Given the description of an element on the screen output the (x, y) to click on. 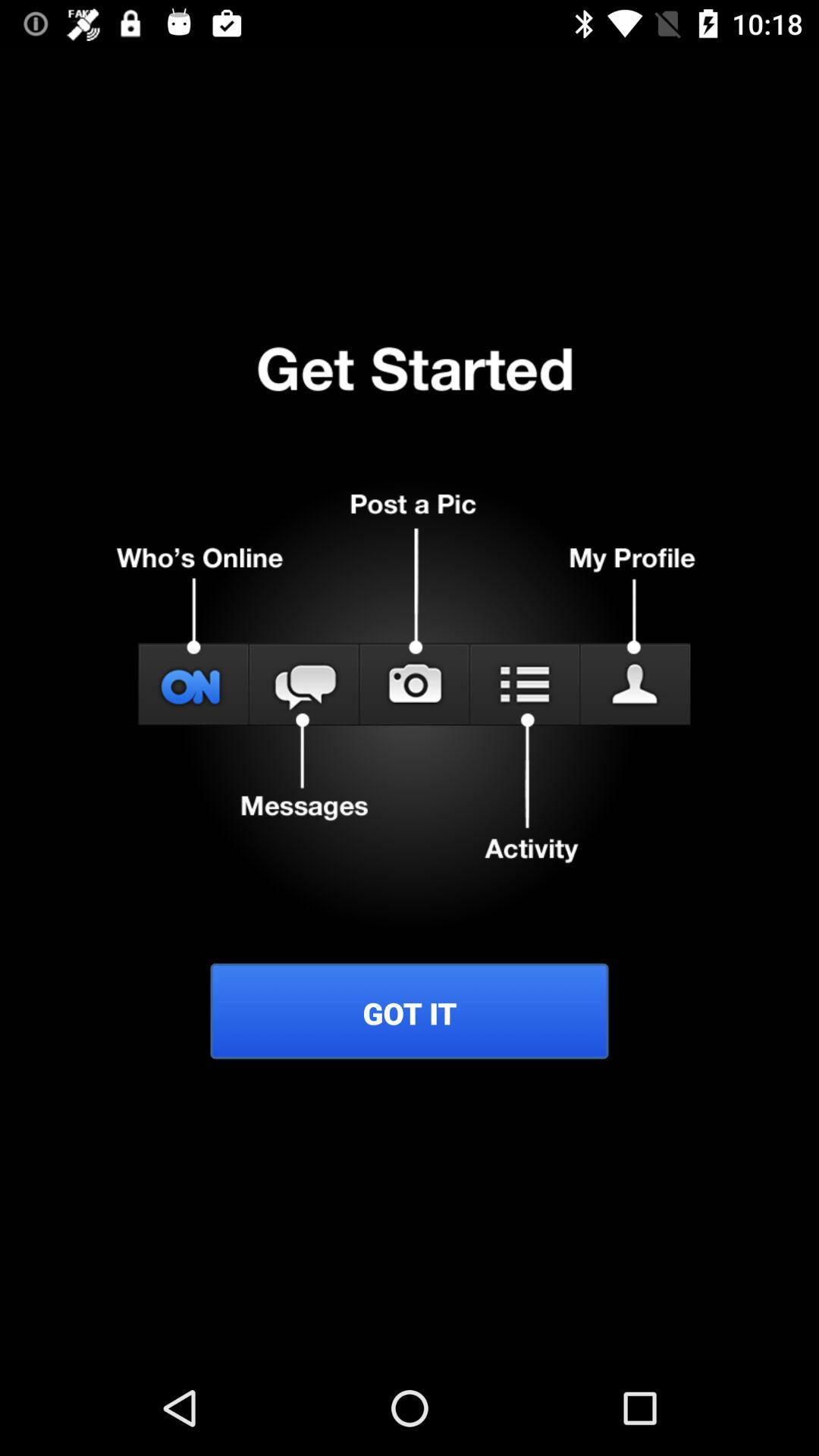
jump until the got it icon (409, 1012)
